Given the description of an element on the screen output the (x, y) to click on. 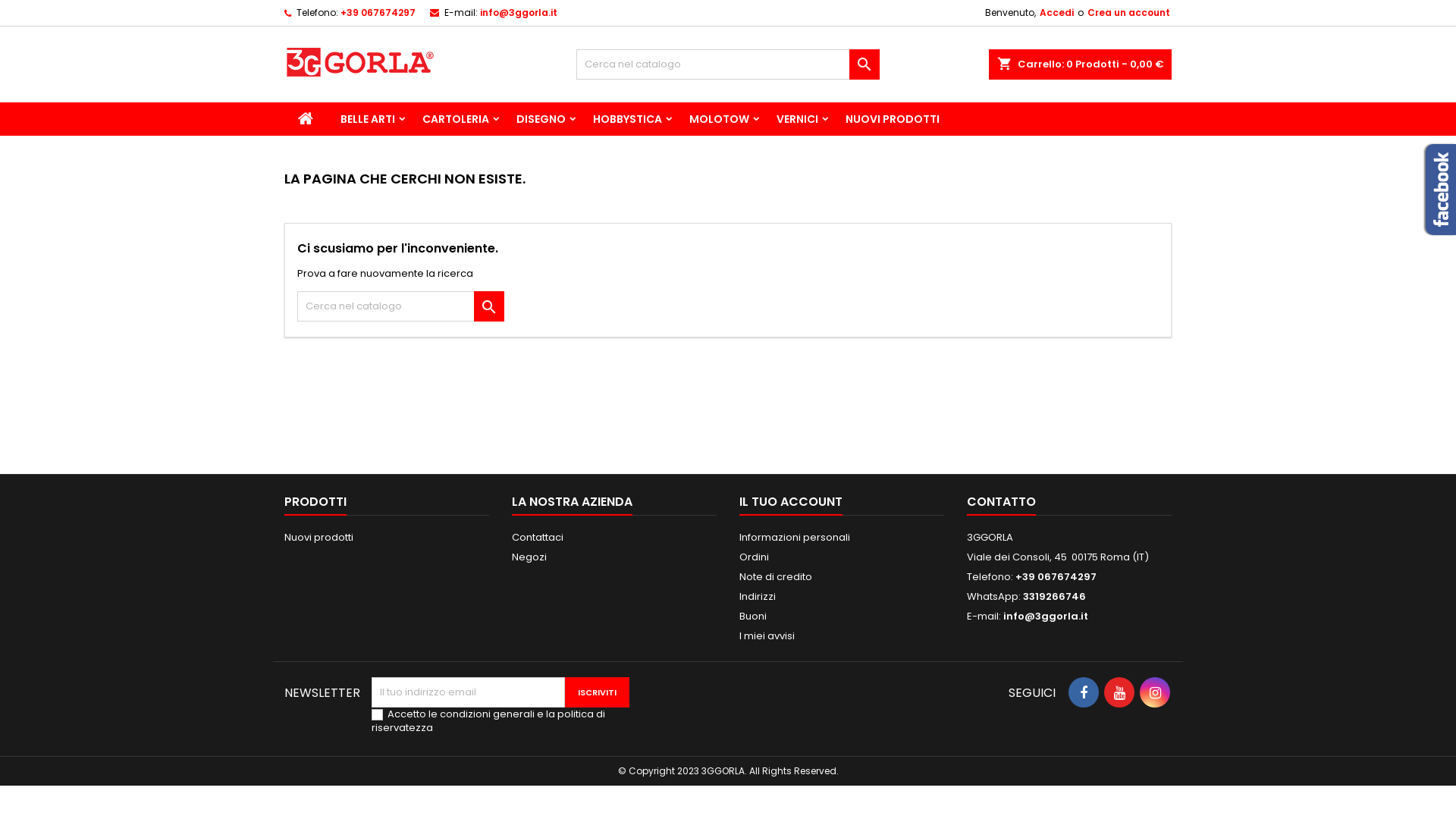
CARTOLERIA Element type: text (455, 118)
NUOVI PRODOTTI Element type: text (892, 118)
Iscriviti Element type: text (596, 692)
IL TUO ACCOUNT Element type: text (790, 502)
BELLE ARTI Element type: text (367, 118)
HOBBYSTICA Element type: text (627, 118)
Negozi Element type: text (528, 556)
I miei avvisi Element type: text (766, 635)
MOLOTOW Element type: text (718, 118)
info@3ggorla.it Element type: text (518, 12)
Crea un account Element type: text (1128, 12)
Buoni Element type: text (752, 615)
Accedi Element type: text (1056, 12)
CONTATTO Element type: text (1000, 502)
Contattaci Element type: text (537, 537)
Ordini Element type: text (753, 556)
info@3ggorla.it Element type: text (1045, 615)
Indirizzi Element type: text (757, 596)
VERNICI Element type: text (796, 118)
Nuovi prodotti Element type: text (318, 537)
Informazioni personali Element type: text (794, 537)
DISEGNO Element type: text (540, 118)
+39 067674297 Element type: text (377, 12)
Note di credito Element type: text (775, 576)
